Given the description of an element on the screen output the (x, y) to click on. 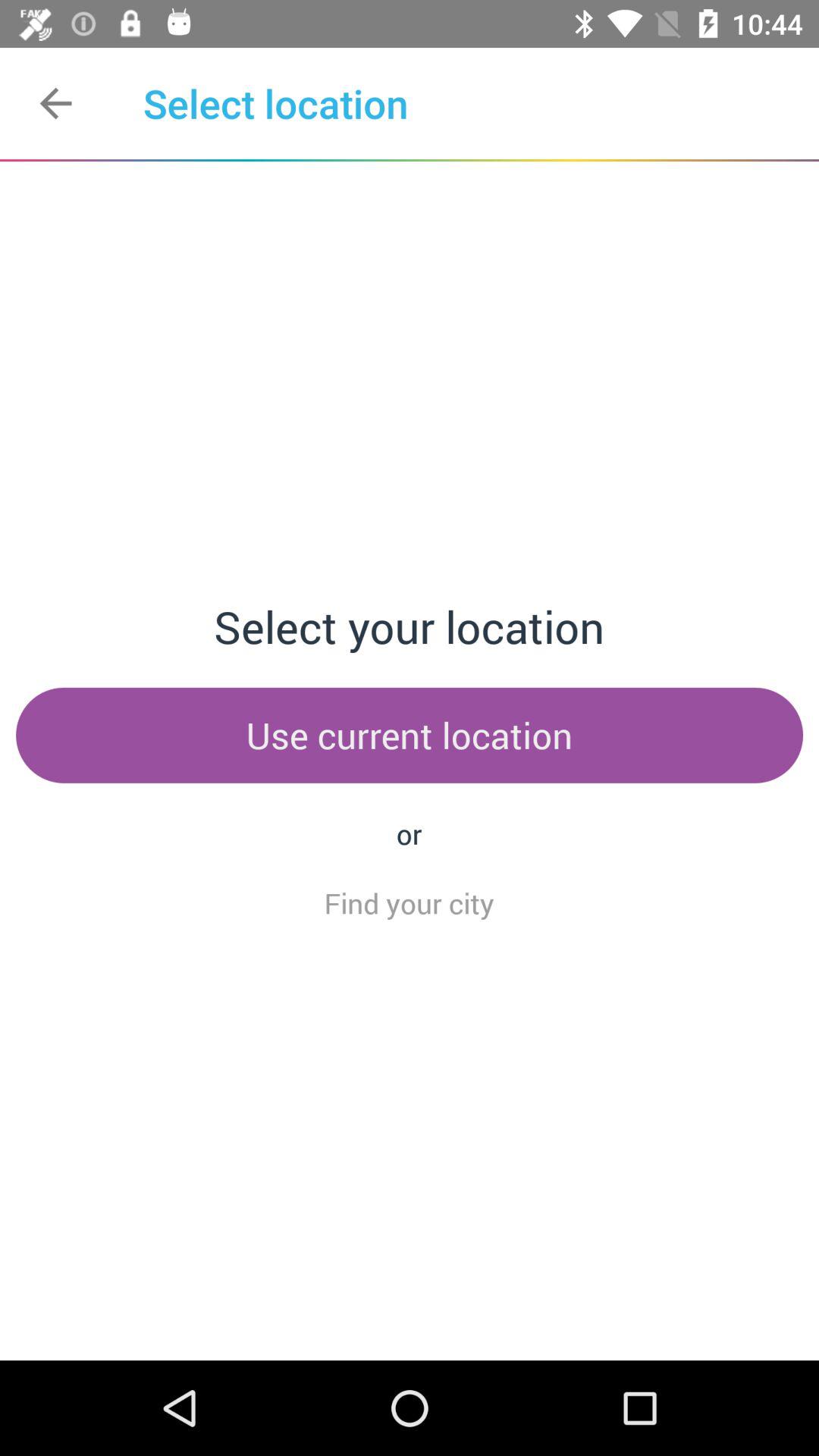
turn off the icon at the top left corner (55, 103)
